Given the description of an element on the screen output the (x, y) to click on. 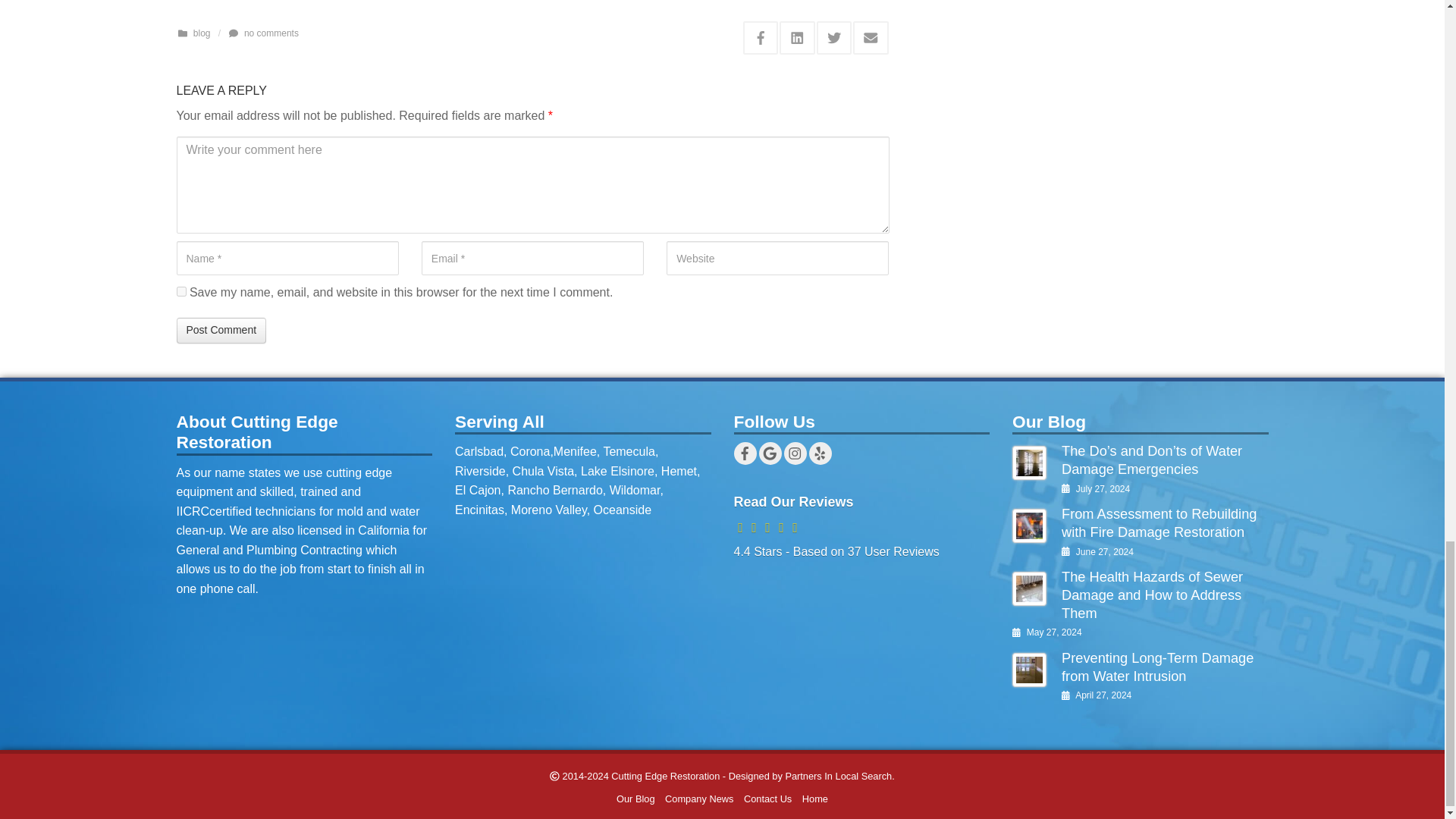
Corona (530, 451)
yes (181, 291)
blog (202, 32)
Post Comment (221, 330)
Post Comment (221, 330)
Share this via Email (870, 37)
Share this via Linkedin (796, 37)
Share this via Facebook (760, 37)
Yelp (819, 453)
Carlsbad (478, 451)
